Given the description of an element on the screen output the (x, y) to click on. 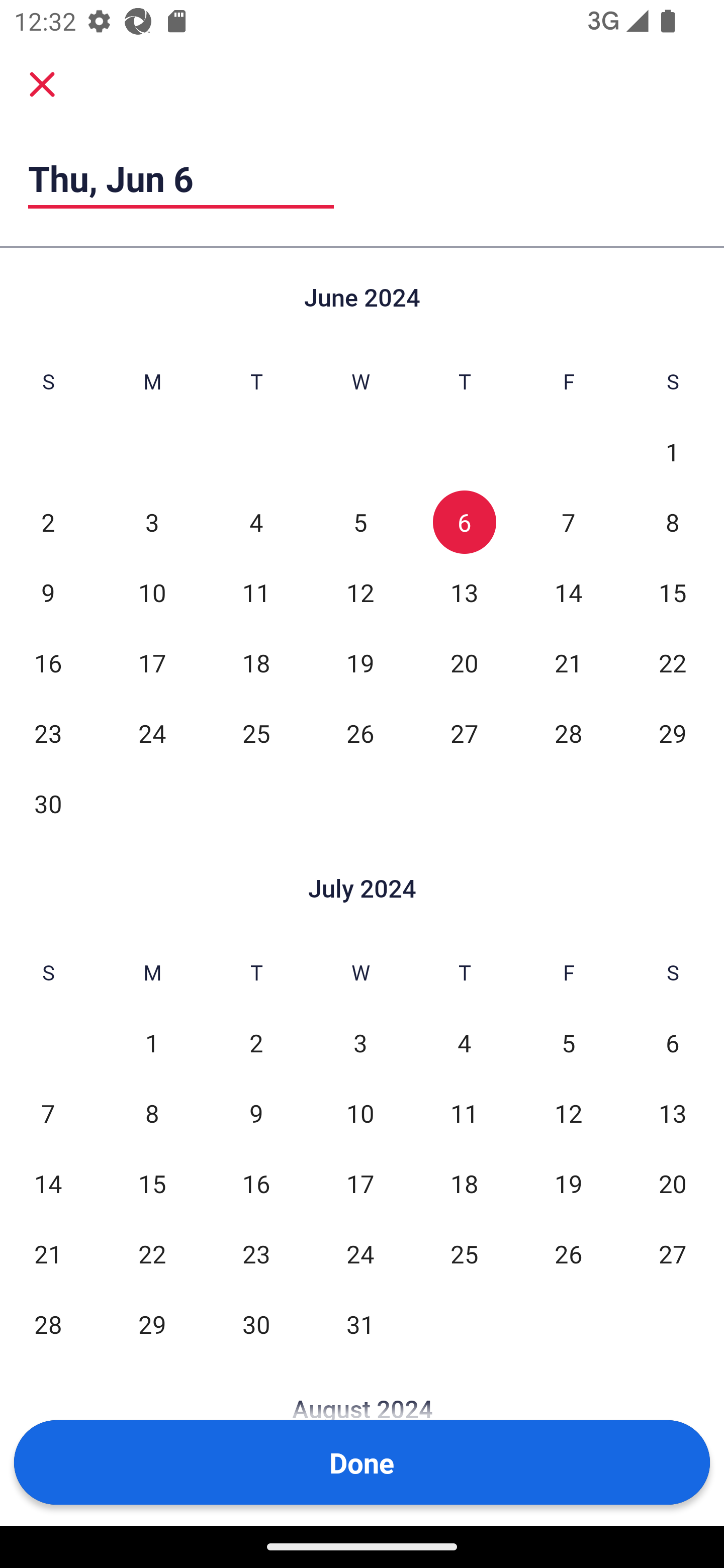
Cancel (42, 84)
Thu, Jun 6 (180, 178)
1 Sat, Jun 1, Not Selected (672, 452)
2 Sun, Jun 2, Not Selected (48, 521)
3 Mon, Jun 3, Not Selected (152, 521)
4 Tue, Jun 4, Not Selected (256, 521)
5 Wed, Jun 5, Not Selected (360, 521)
6 Thu, Jun 6, Selected (464, 521)
7 Fri, Jun 7, Not Selected (568, 521)
8 Sat, Jun 8, Not Selected (672, 521)
9 Sun, Jun 9, Not Selected (48, 591)
10 Mon, Jun 10, Not Selected (152, 591)
11 Tue, Jun 11, Not Selected (256, 591)
12 Wed, Jun 12, Not Selected (360, 591)
13 Thu, Jun 13, Not Selected (464, 591)
14 Fri, Jun 14, Not Selected (568, 591)
15 Sat, Jun 15, Not Selected (672, 591)
16 Sun, Jun 16, Not Selected (48, 662)
17 Mon, Jun 17, Not Selected (152, 662)
18 Tue, Jun 18, Not Selected (256, 662)
19 Wed, Jun 19, Not Selected (360, 662)
20 Thu, Jun 20, Not Selected (464, 662)
21 Fri, Jun 21, Not Selected (568, 662)
22 Sat, Jun 22, Not Selected (672, 662)
23 Sun, Jun 23, Not Selected (48, 732)
24 Mon, Jun 24, Not Selected (152, 732)
25 Tue, Jun 25, Not Selected (256, 732)
26 Wed, Jun 26, Not Selected (360, 732)
27 Thu, Jun 27, Not Selected (464, 732)
28 Fri, Jun 28, Not Selected (568, 732)
29 Sat, Jun 29, Not Selected (672, 732)
30 Sun, Jun 30, Not Selected (48, 803)
1 Mon, Jul 1, Not Selected (152, 1043)
2 Tue, Jul 2, Not Selected (256, 1043)
3 Wed, Jul 3, Not Selected (360, 1043)
4 Thu, Jul 4, Not Selected (464, 1043)
5 Fri, Jul 5, Not Selected (568, 1043)
6 Sat, Jul 6, Not Selected (672, 1043)
7 Sun, Jul 7, Not Selected (48, 1112)
8 Mon, Jul 8, Not Selected (152, 1112)
9 Tue, Jul 9, Not Selected (256, 1112)
10 Wed, Jul 10, Not Selected (360, 1112)
11 Thu, Jul 11, Not Selected (464, 1112)
12 Fri, Jul 12, Not Selected (568, 1112)
13 Sat, Jul 13, Not Selected (672, 1112)
14 Sun, Jul 14, Not Selected (48, 1182)
15 Mon, Jul 15, Not Selected (152, 1182)
16 Tue, Jul 16, Not Selected (256, 1182)
17 Wed, Jul 17, Not Selected (360, 1182)
18 Thu, Jul 18, Not Selected (464, 1182)
19 Fri, Jul 19, Not Selected (568, 1182)
20 Sat, Jul 20, Not Selected (672, 1182)
21 Sun, Jul 21, Not Selected (48, 1253)
22 Mon, Jul 22, Not Selected (152, 1253)
23 Tue, Jul 23, Not Selected (256, 1253)
24 Wed, Jul 24, Not Selected (360, 1253)
25 Thu, Jul 25, Not Selected (464, 1253)
26 Fri, Jul 26, Not Selected (568, 1253)
27 Sat, Jul 27, Not Selected (672, 1253)
28 Sun, Jul 28, Not Selected (48, 1323)
29 Mon, Jul 29, Not Selected (152, 1323)
30 Tue, Jul 30, Not Selected (256, 1323)
31 Wed, Jul 31, Not Selected (360, 1323)
Done Button Done (361, 1462)
